Given the description of an element on the screen output the (x, y) to click on. 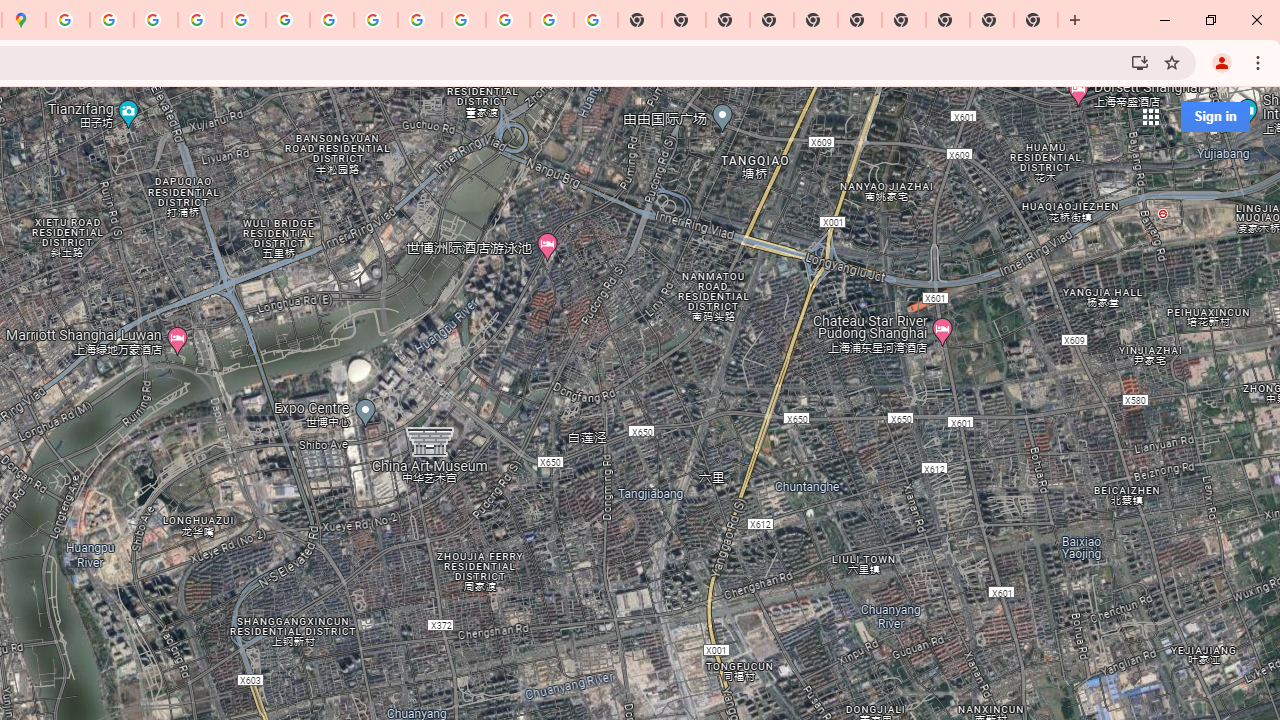
New Tab (1035, 20)
YouTube (331, 20)
Privacy Help Center - Policies Help (199, 20)
